Given the description of an element on the screen output the (x, y) to click on. 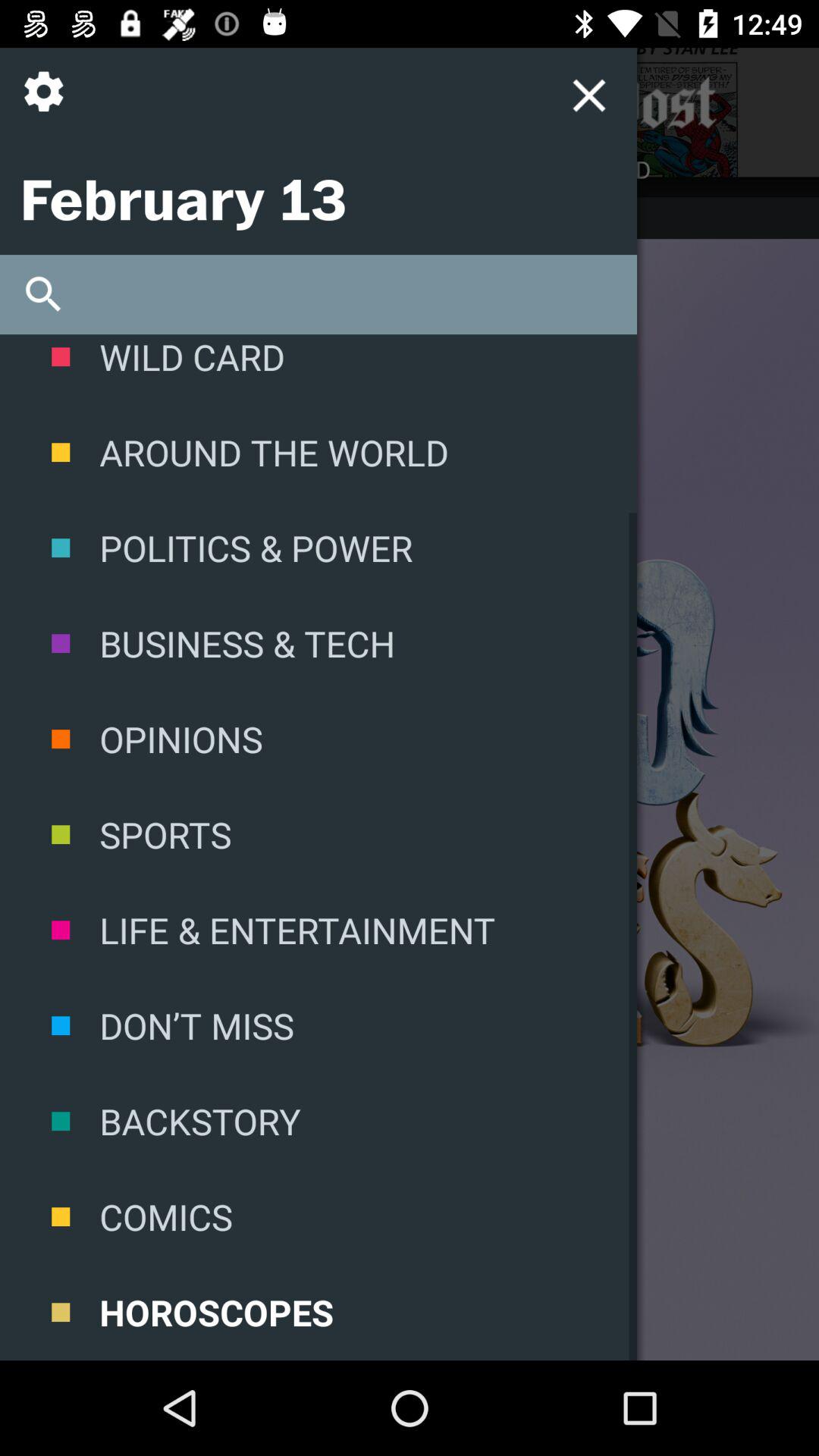
scroll to the life & entertainment (318, 930)
